Given the description of an element on the screen output the (x, y) to click on. 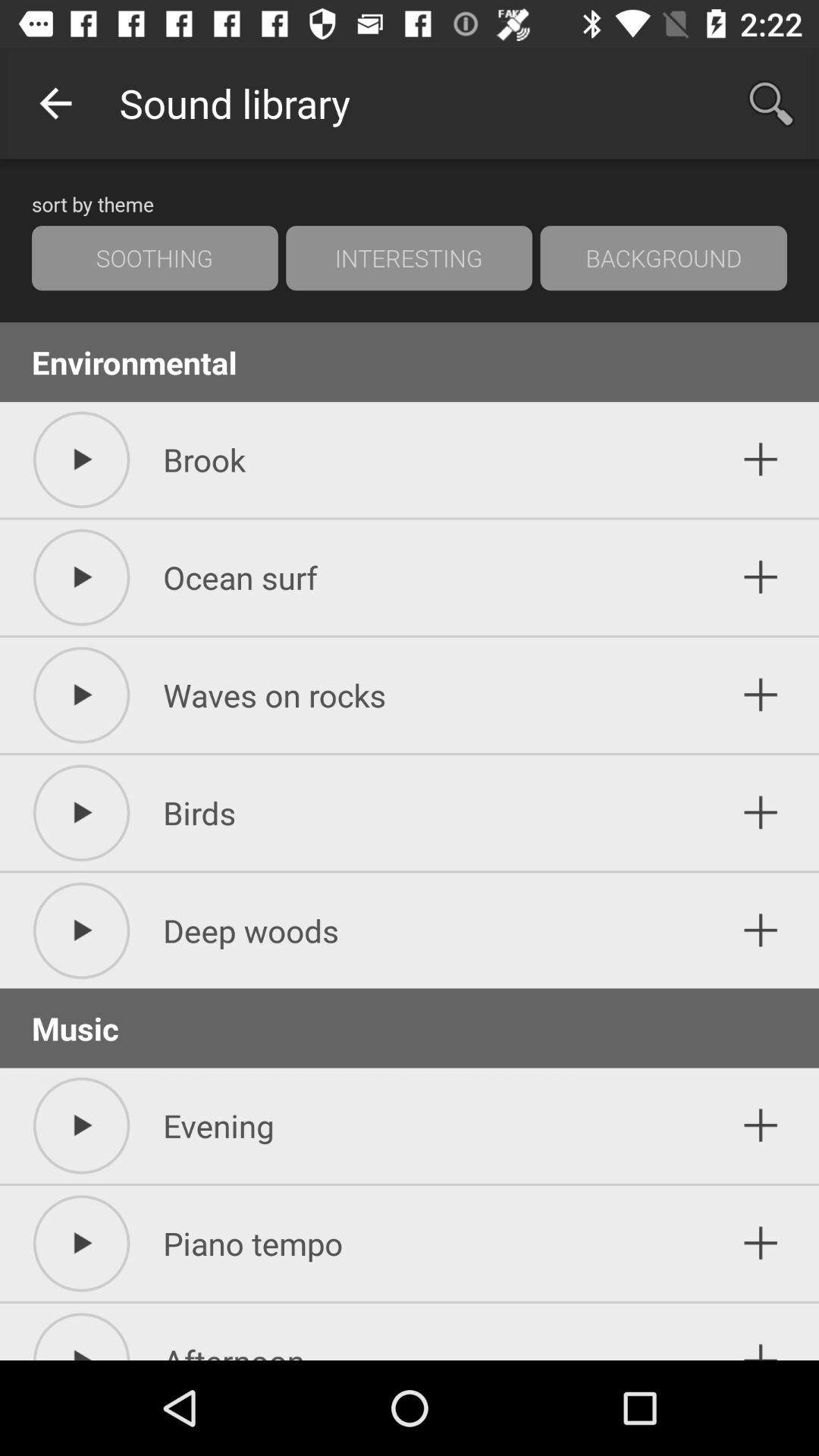
turn on icon next to soothing item (409, 257)
